Given the description of an element on the screen output the (x, y) to click on. 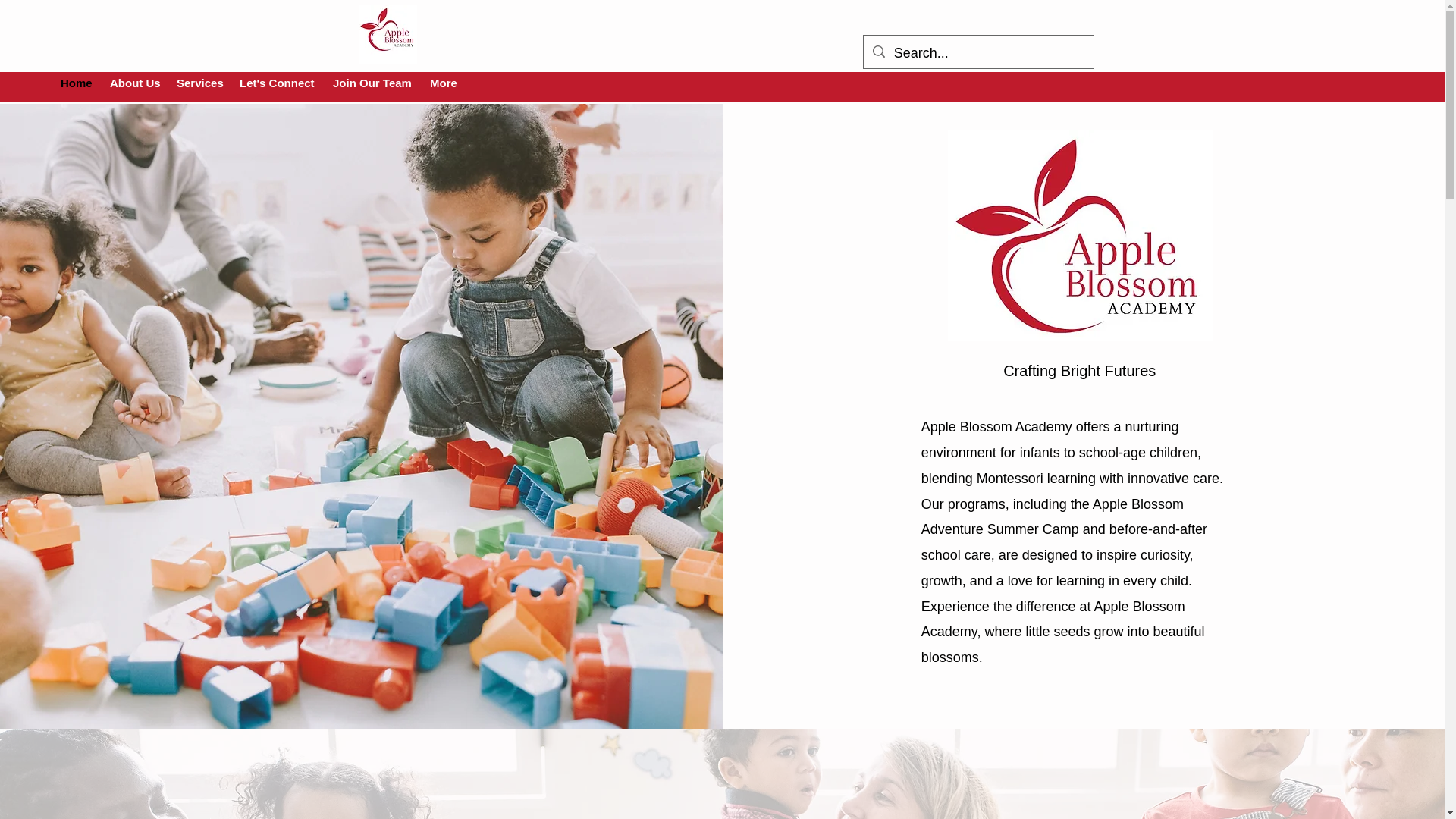
Join Our Team (373, 83)
Apple Blossom.jpg (1079, 235)
Let's Connect (277, 83)
Services (199, 83)
Apple Blossom.jpg (387, 33)
About Us (134, 83)
Home (76, 83)
